Given the description of an element on the screen output the (x, y) to click on. 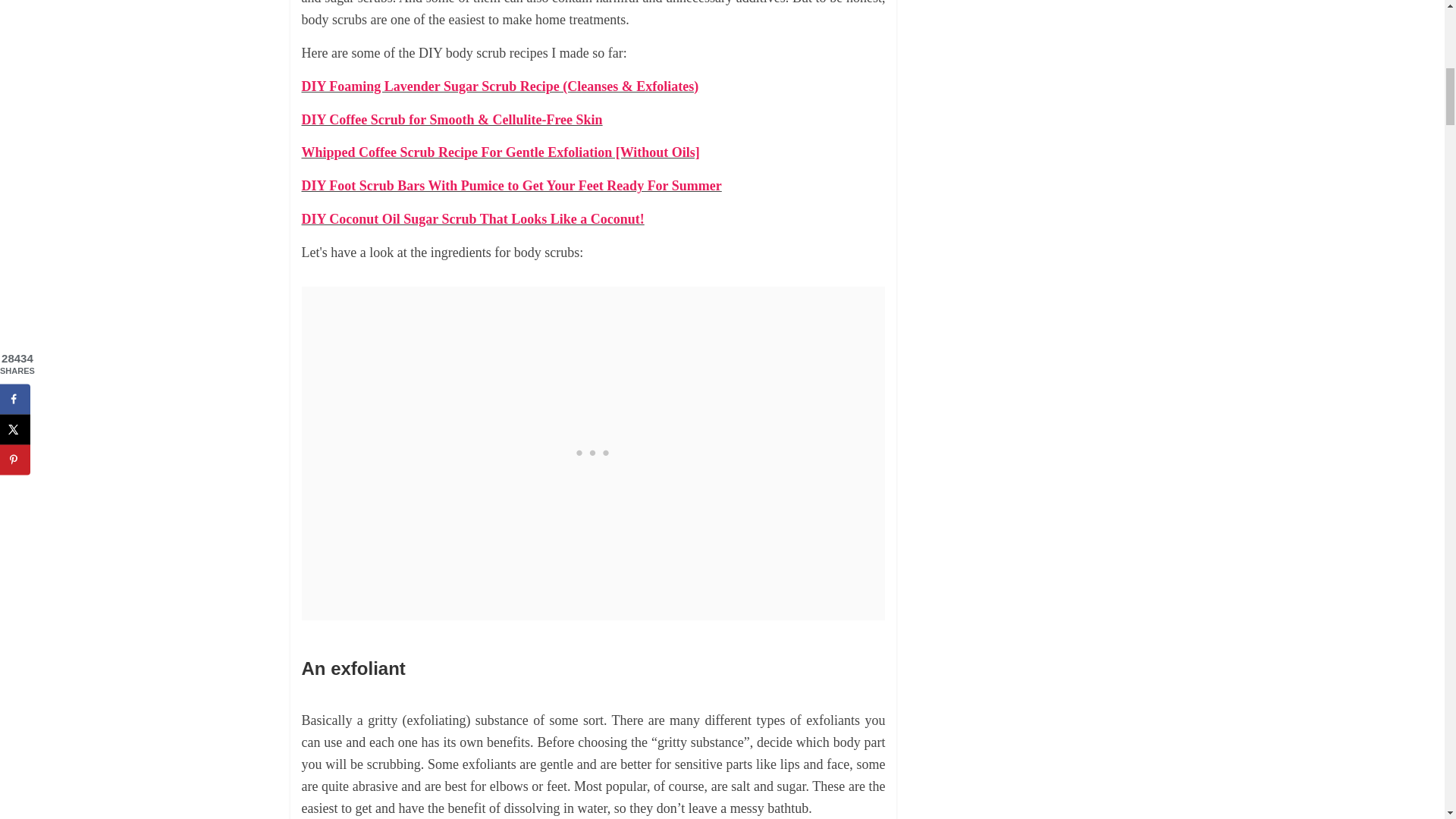
DIY Coconut Oil Sugar Scrub That Looks Like a Coconut! (473, 218)
